Given the description of an element on the screen output the (x, y) to click on. 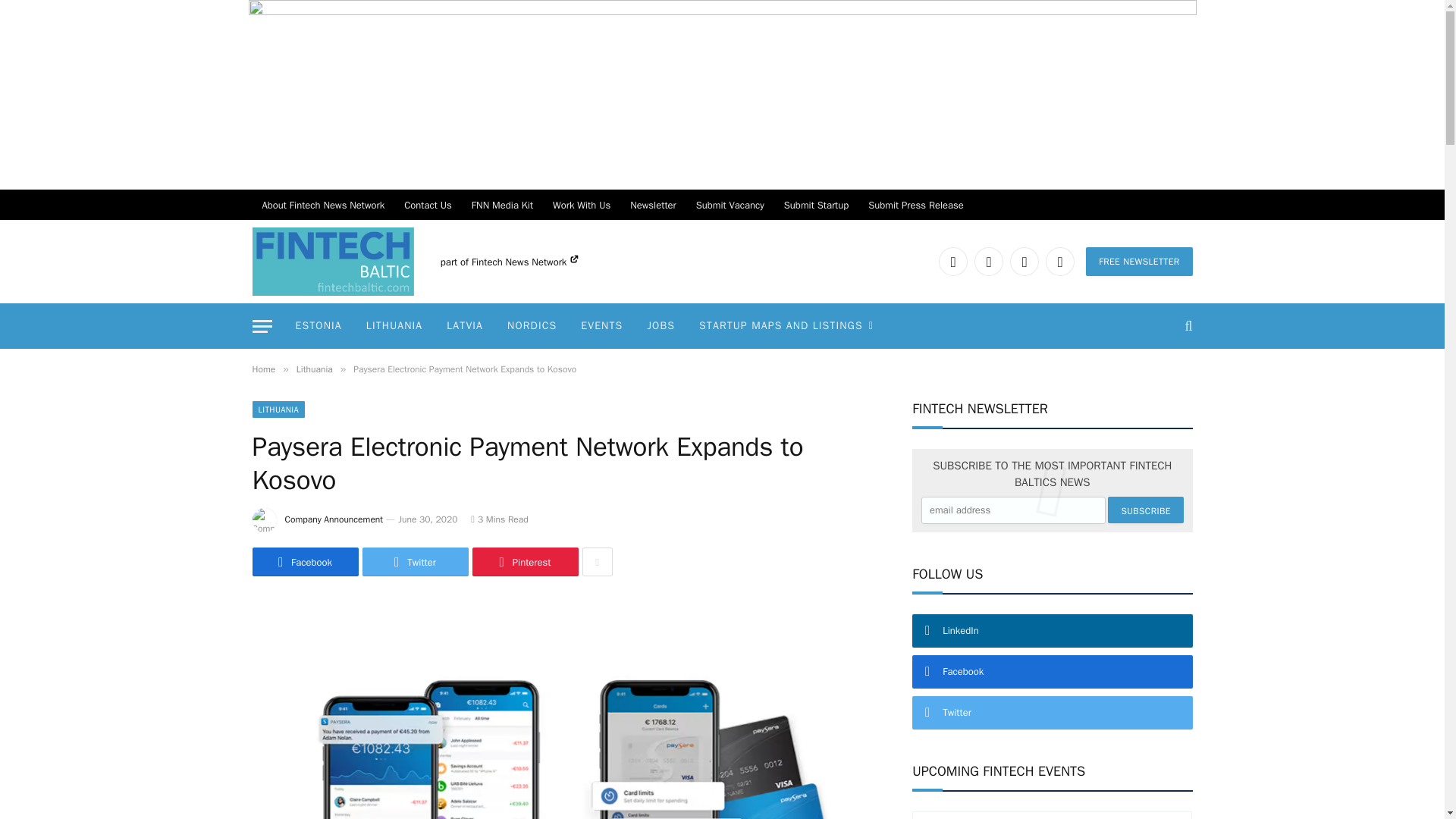
Share on Pinterest (524, 561)
Facebook (988, 261)
Fintech News Network (524, 261)
Submit Vacancy (729, 204)
Show More Social Sharing (597, 561)
Work With Us (581, 204)
About Fintech News Network (322, 204)
Newsletter (652, 204)
Submit Press Release (916, 204)
Posts by Company Announcement (334, 519)
Subscribe (1145, 509)
Submit Startup (816, 204)
LinkedIn (953, 261)
Contact Us (427, 204)
